Given the description of an element on the screen output the (x, y) to click on. 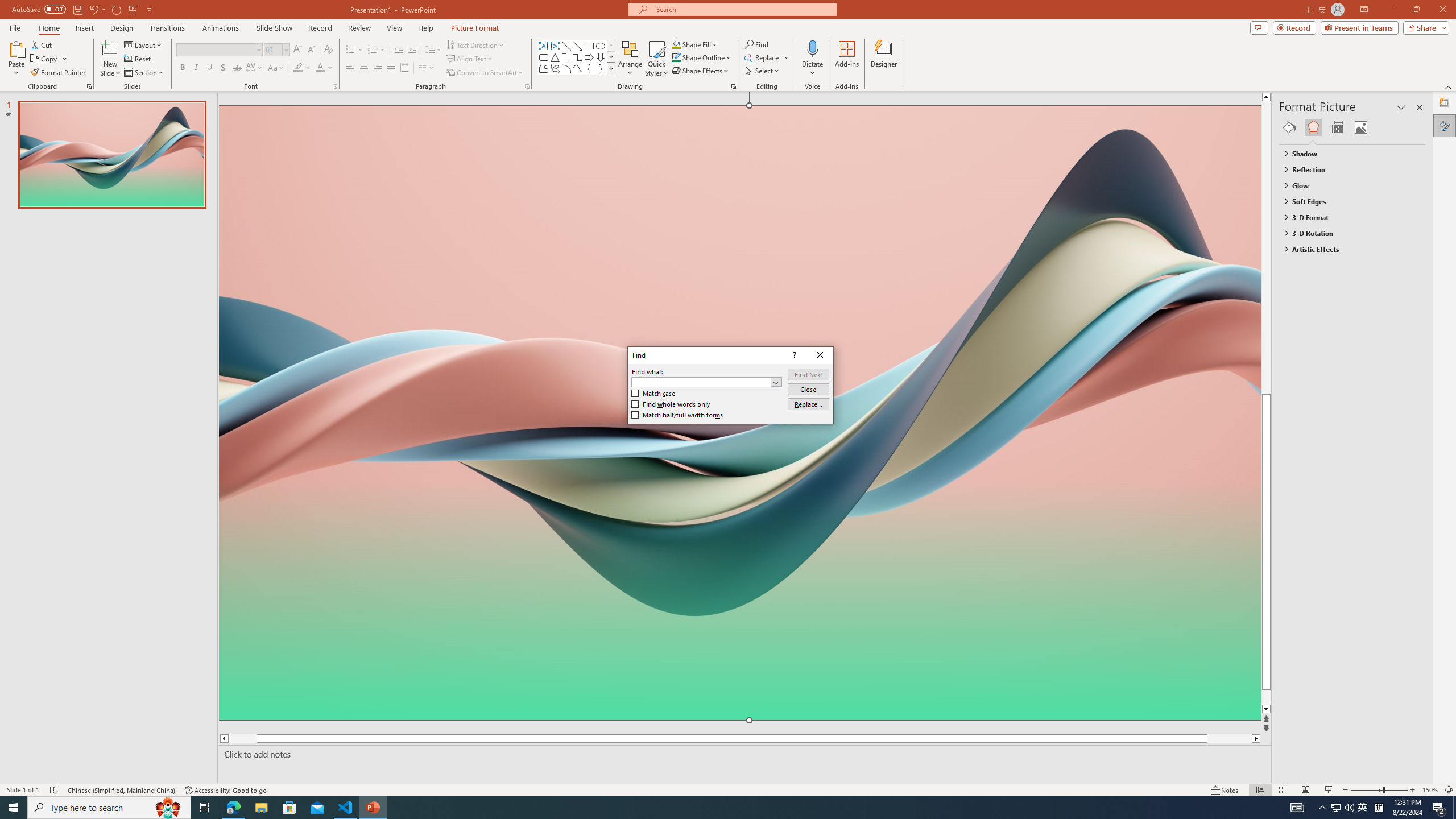
User Promoted Notification Area (1342, 807)
Paragraph... (526, 85)
Arc (566, 68)
Left Brace (589, 68)
Q2790: 100% (1349, 807)
Section (144, 72)
Microsoft Store (289, 807)
Shape Outline Blue, Accent 1 (675, 56)
